Given the description of an element on the screen output the (x, y) to click on. 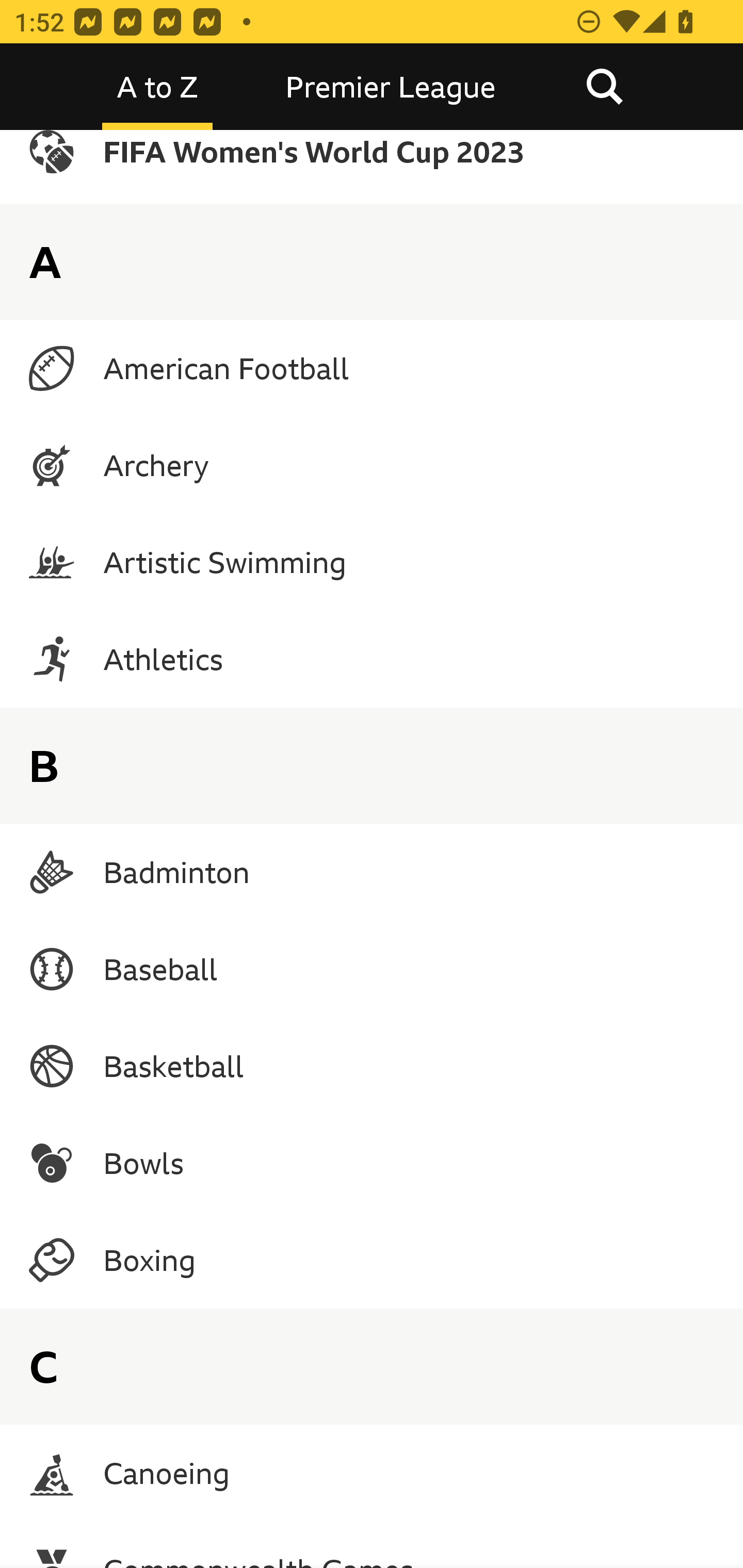
Premier League (390, 86)
Search (604, 86)
FIFA Women's World Cup 2023 (371, 166)
American Football (371, 368)
Archery (371, 465)
Artistic Swimming (371, 561)
Athletics (371, 658)
Badminton (371, 871)
Baseball (371, 968)
Basketball (371, 1065)
Bowls (371, 1163)
Boxing (371, 1260)
Canoeing (371, 1472)
